Given the description of an element on the screen output the (x, y) to click on. 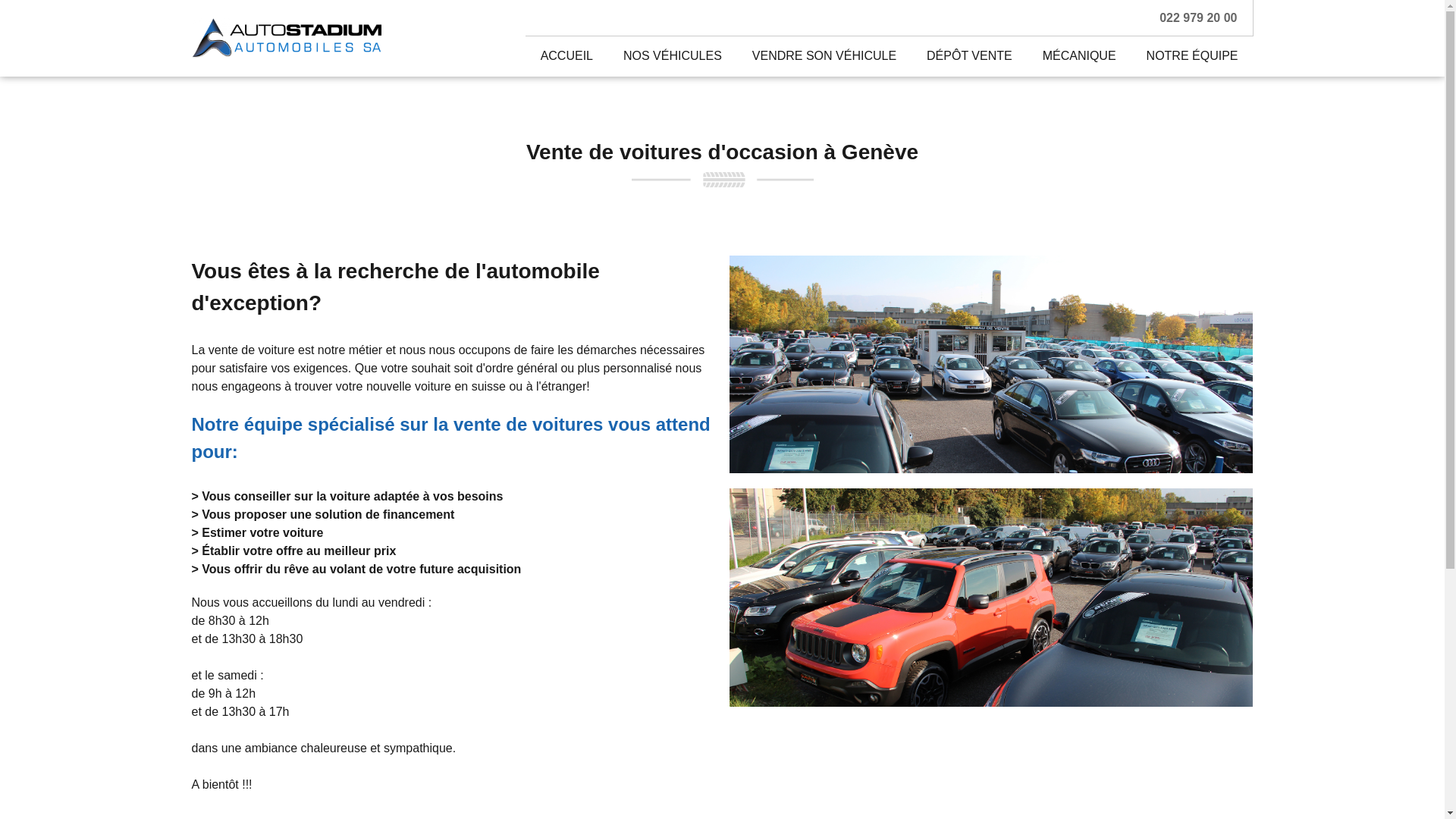
ACCUEIL Element type: text (566, 55)
picsum3.jpg Element type: hover (990, 364)
Autostadium Automobile Element type: hover (285, 37)
022 979 20 00 Element type: text (1197, 17)
picsum3.jpg Element type: hover (990, 597)
